Given the description of an element on the screen output the (x, y) to click on. 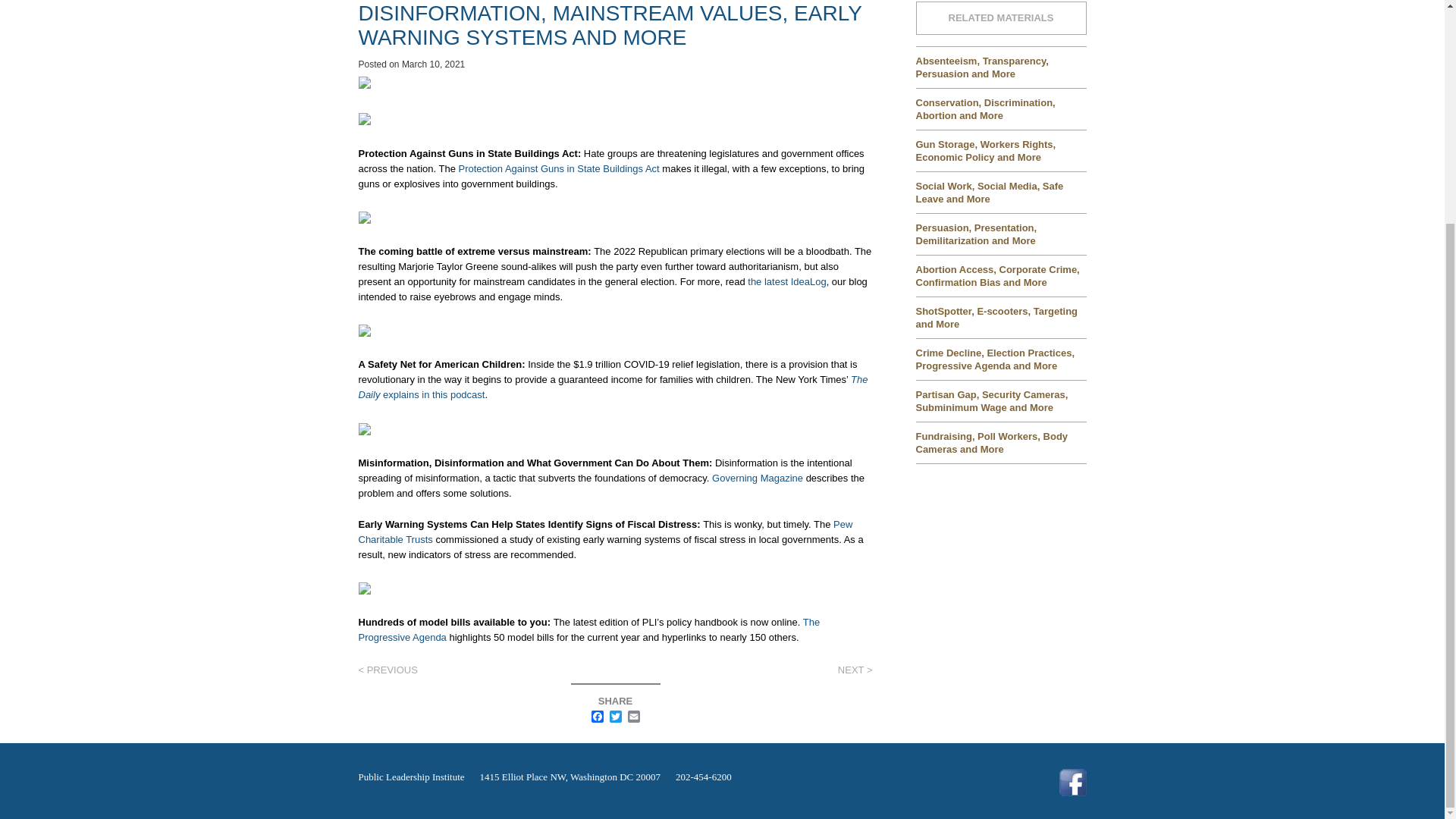
Social Work, Social Media, Safe Leave and More (1000, 191)
Conservation, Discrimination, Abortion and More (1000, 107)
The Progressive Agenda (588, 629)
Fundraising, Poll Workers, Body Cameras and More (1000, 441)
Protection Against Guns in State Buildings Act (558, 167)
Pew Charitable Trusts (604, 531)
FACEBOOK (597, 717)
The Daily explains in this podcast (612, 386)
Gun Storage, Workers Rights, Economic Policy and More (1000, 150)
Persuasion, Presentation, Demilitarization and More (1000, 233)
Absenteeism, Transparency, Persuasion and More (1000, 66)
Governing Magazine (757, 478)
Partisan Gap, Security Cameras, Subminimum Wage and More (1000, 400)
the latest IdeaLog (786, 281)
